Given the description of an element on the screen output the (x, y) to click on. 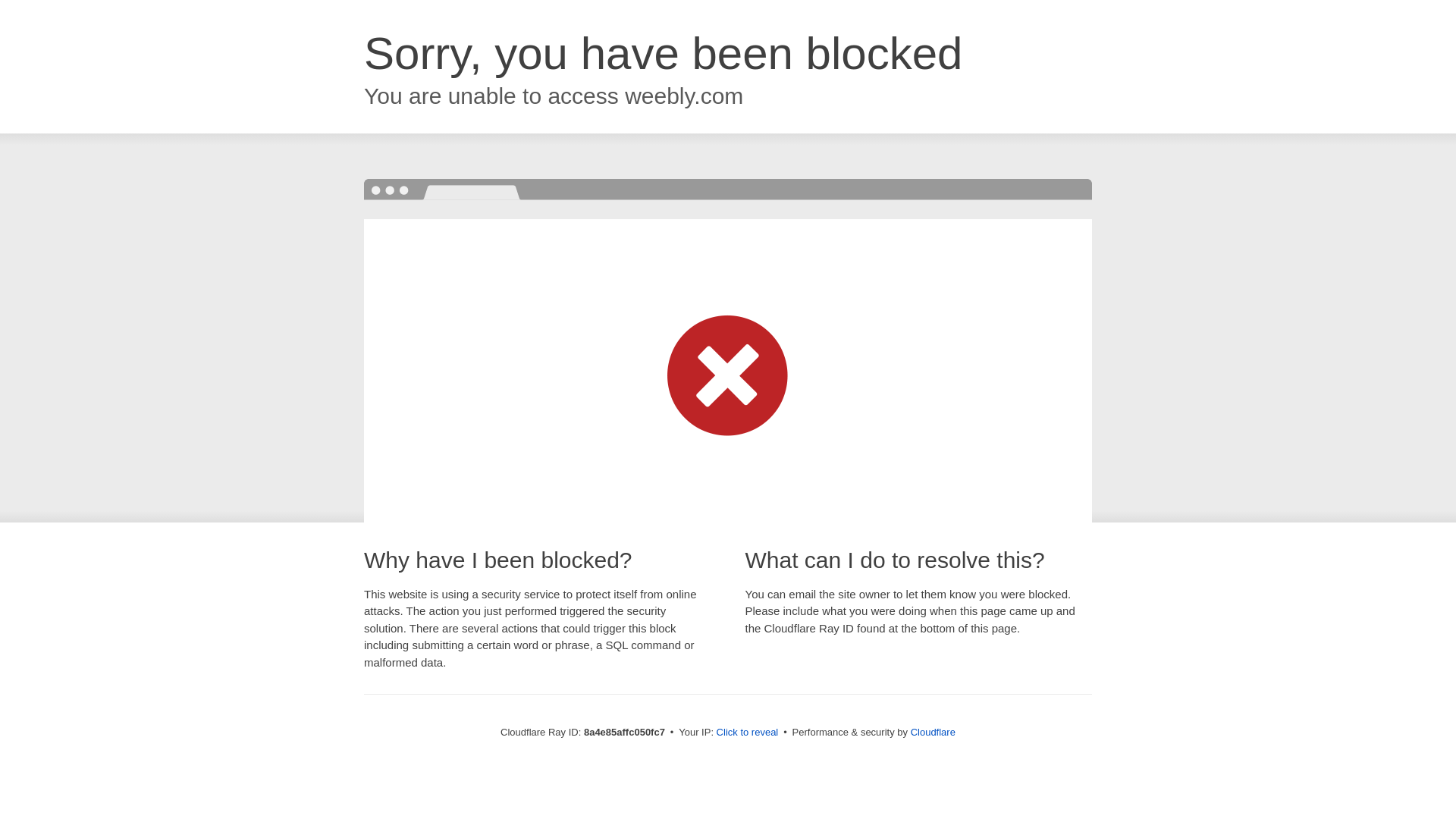
Click to reveal (747, 732)
Cloudflare (933, 731)
